Given the description of an element on the screen output the (x, y) to click on. 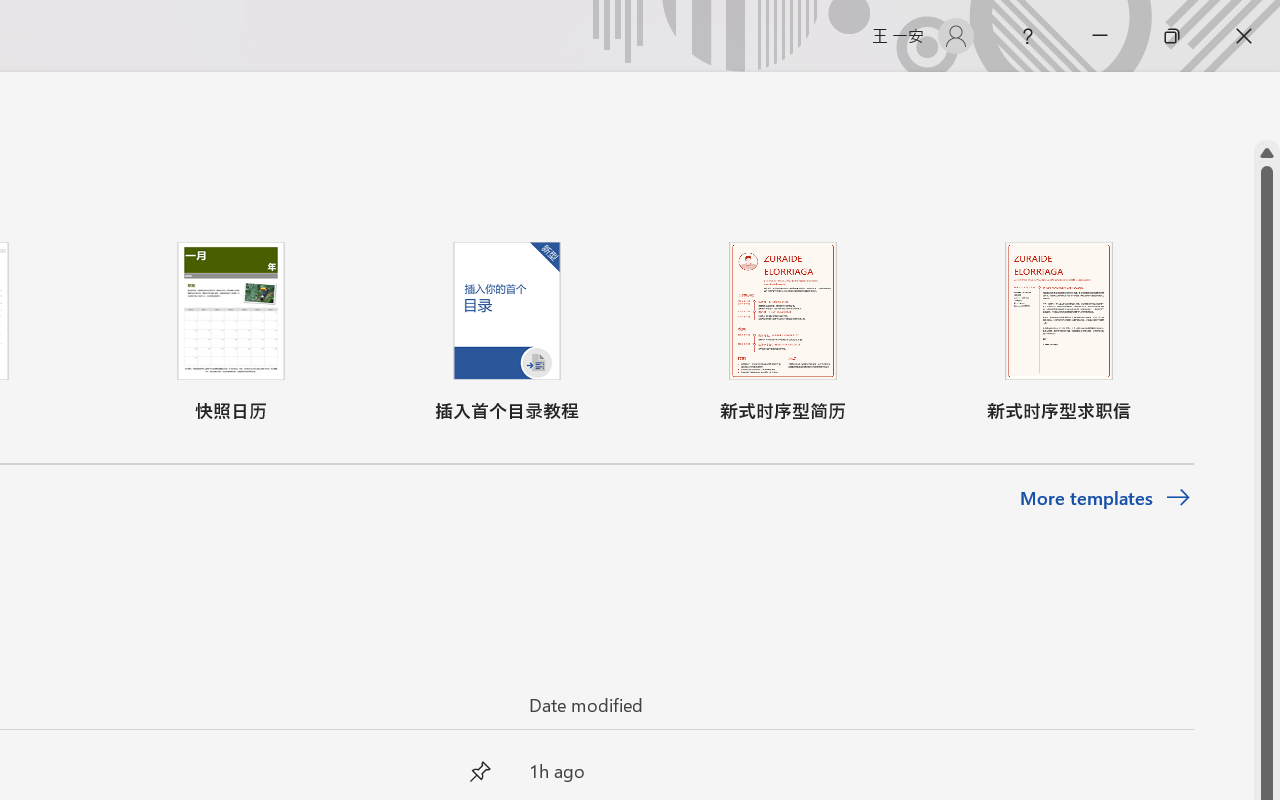
Line up (1267, 153)
Unpin this item from the list (480, 770)
More templates (1105, 498)
